Given the description of an element on the screen output the (x, y) to click on. 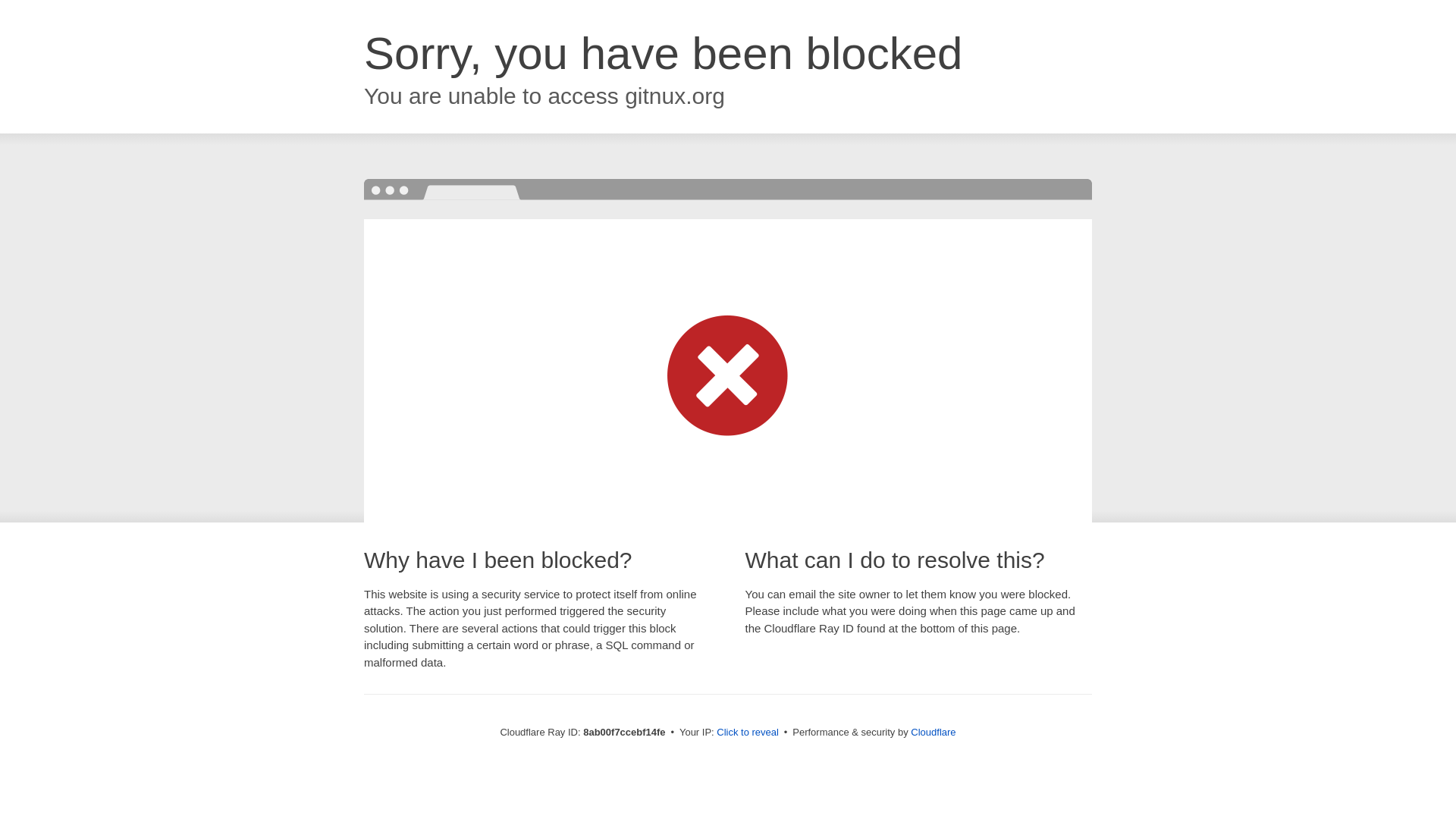
Click to reveal (747, 732)
Cloudflare (933, 731)
